Given the description of an element on the screen output the (x, y) to click on. 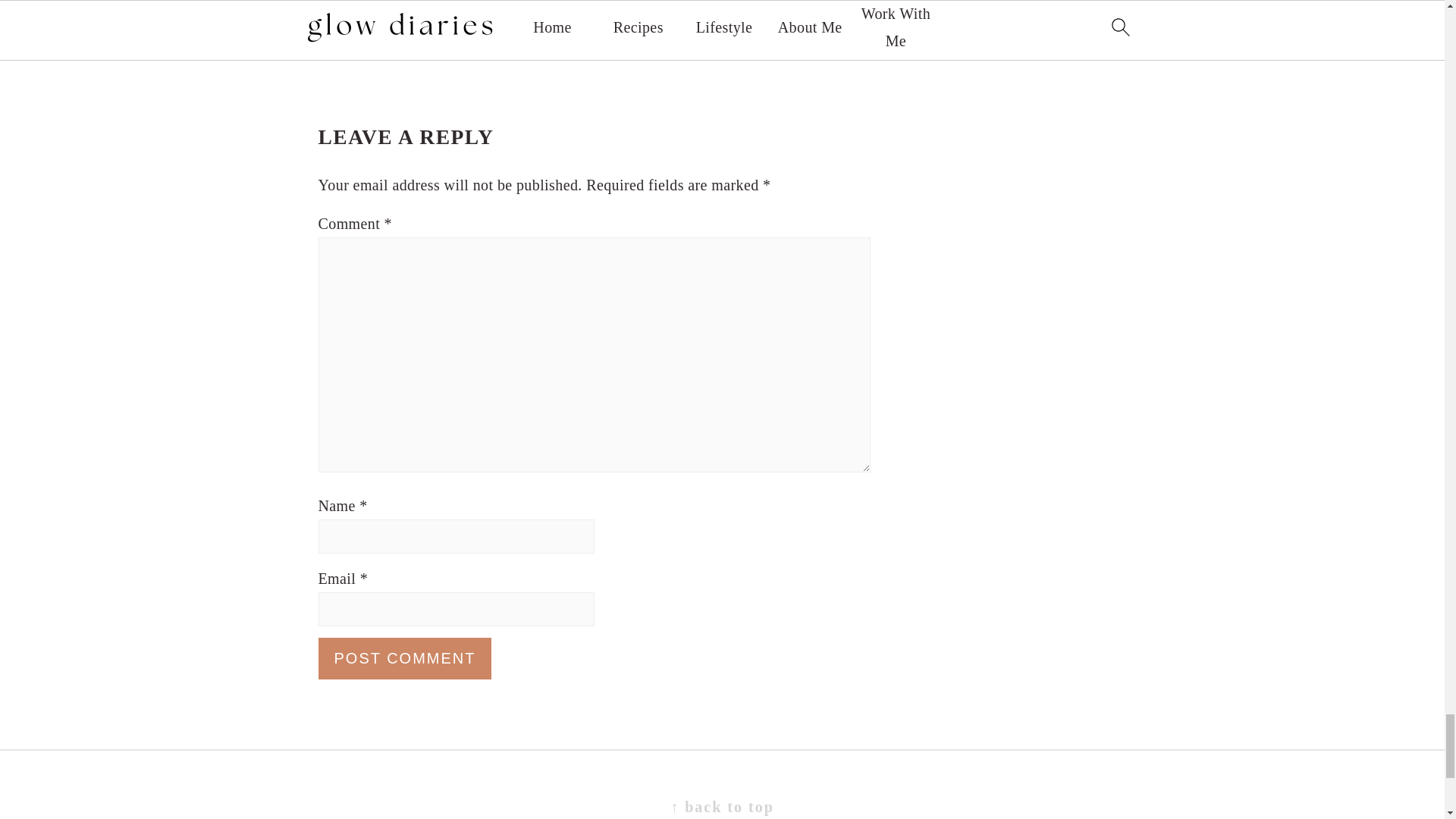
Post Comment (405, 658)
